Given the description of an element on the screen output the (x, y) to click on. 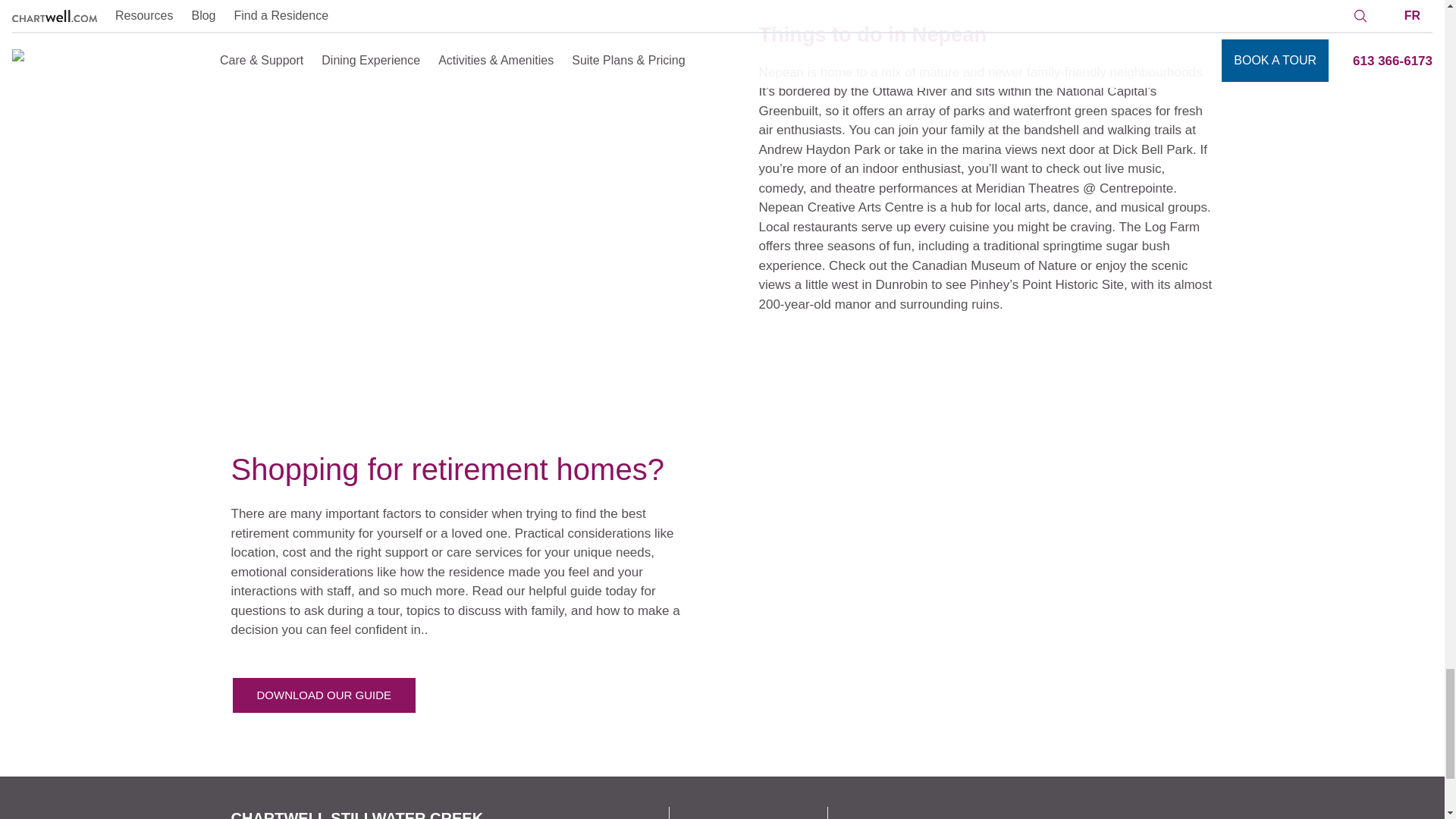
Download our guide (323, 695)
